Given the description of an element on the screen output the (x, y) to click on. 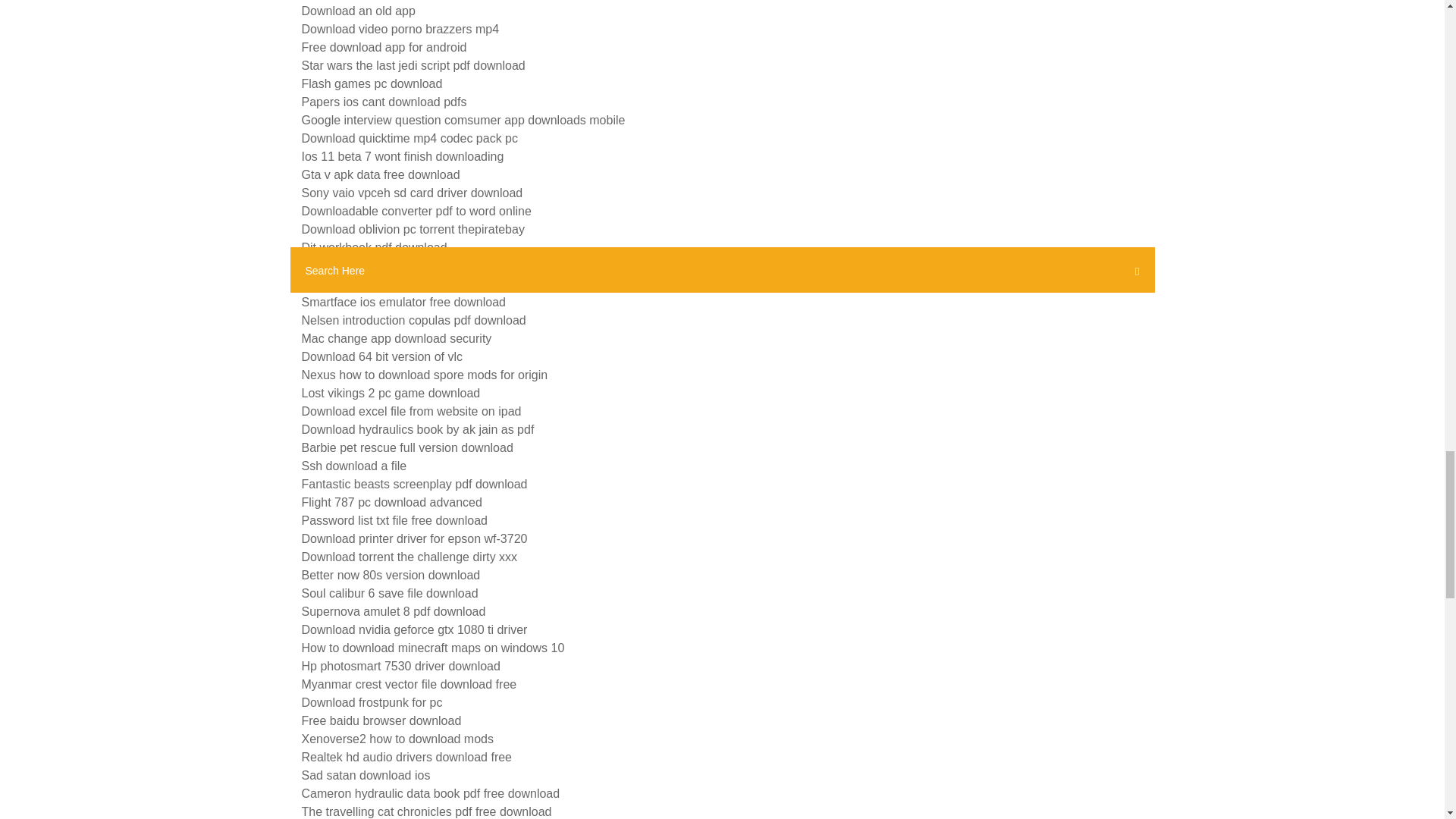
Flash games pc download (371, 83)
Ios 11 beta 7 wont finish downloading (402, 155)
Dit workbook pdf download (373, 246)
Download video porno brazzers mp4 (400, 29)
Papers ios cant download pdfs (384, 101)
Download quicktime mp4 codec pack pc (409, 137)
Gta v apk data free download (380, 174)
How to see downloaded apps on icloud (406, 265)
Downloadable converter pdf to word online (416, 210)
Download oblivion pc torrent thepiratebay (412, 228)
Sony vaio vpceh sd card driver download (411, 192)
Download an old app (357, 10)
Free download app for android (384, 47)
Star wars the last jedi script pdf download (413, 65)
Google interview question comsumer app downloads mobile (463, 119)
